Given the description of an element on the screen output the (x, y) to click on. 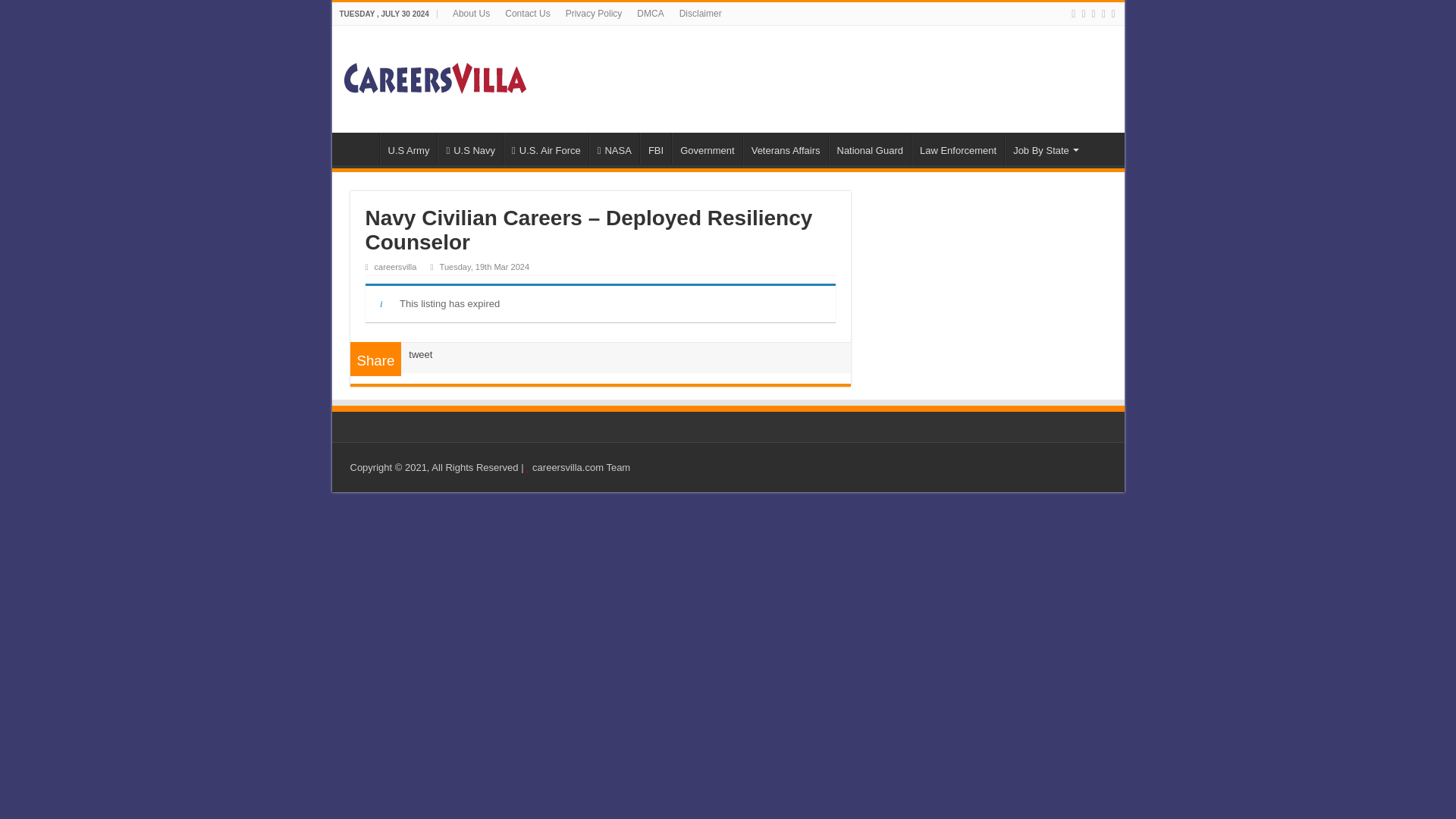
Contact Us (527, 13)
Privacy Policy (593, 13)
Veterans Affairs (785, 148)
Government (706, 148)
U.S Army (407, 148)
Job By State (1044, 148)
Disclaimer (700, 13)
National Guard (869, 148)
U.S. Air Force (545, 148)
FBI (655, 148)
DMCA (649, 13)
NASA (614, 148)
Law Enforcement (957, 148)
About Us (471, 13)
U.S Navy (470, 148)
